Given the description of an element on the screen output the (x, y) to click on. 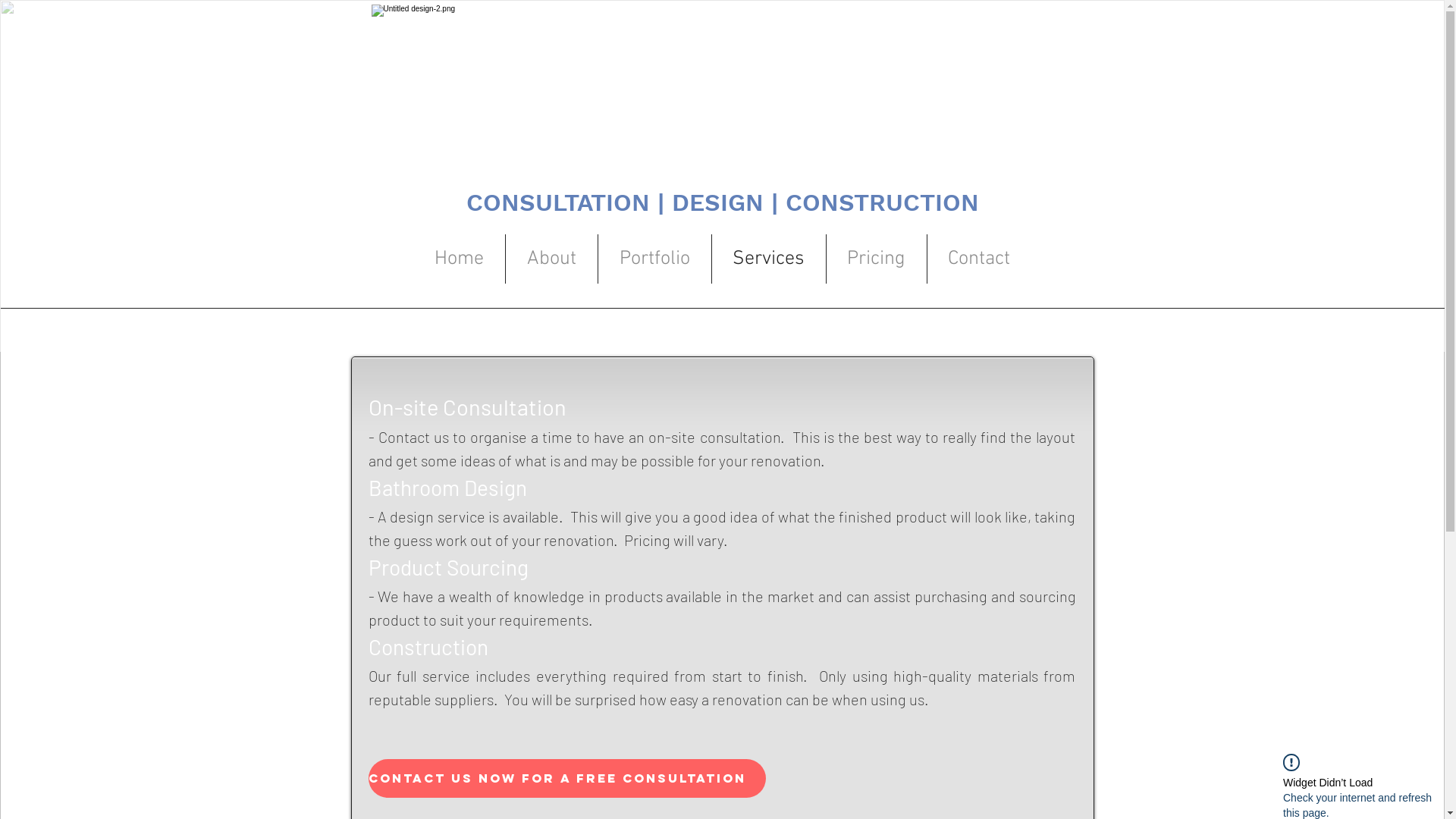
Services Element type: text (768, 258)
Contact us now for a free consultation Element type: text (566, 778)
Portfolio Element type: text (653, 258)
Pricing Element type: text (876, 258)
Home Element type: text (458, 258)
About Element type: text (550, 258)
Contact Element type: text (978, 258)
